Given the description of an element on the screen output the (x, y) to click on. 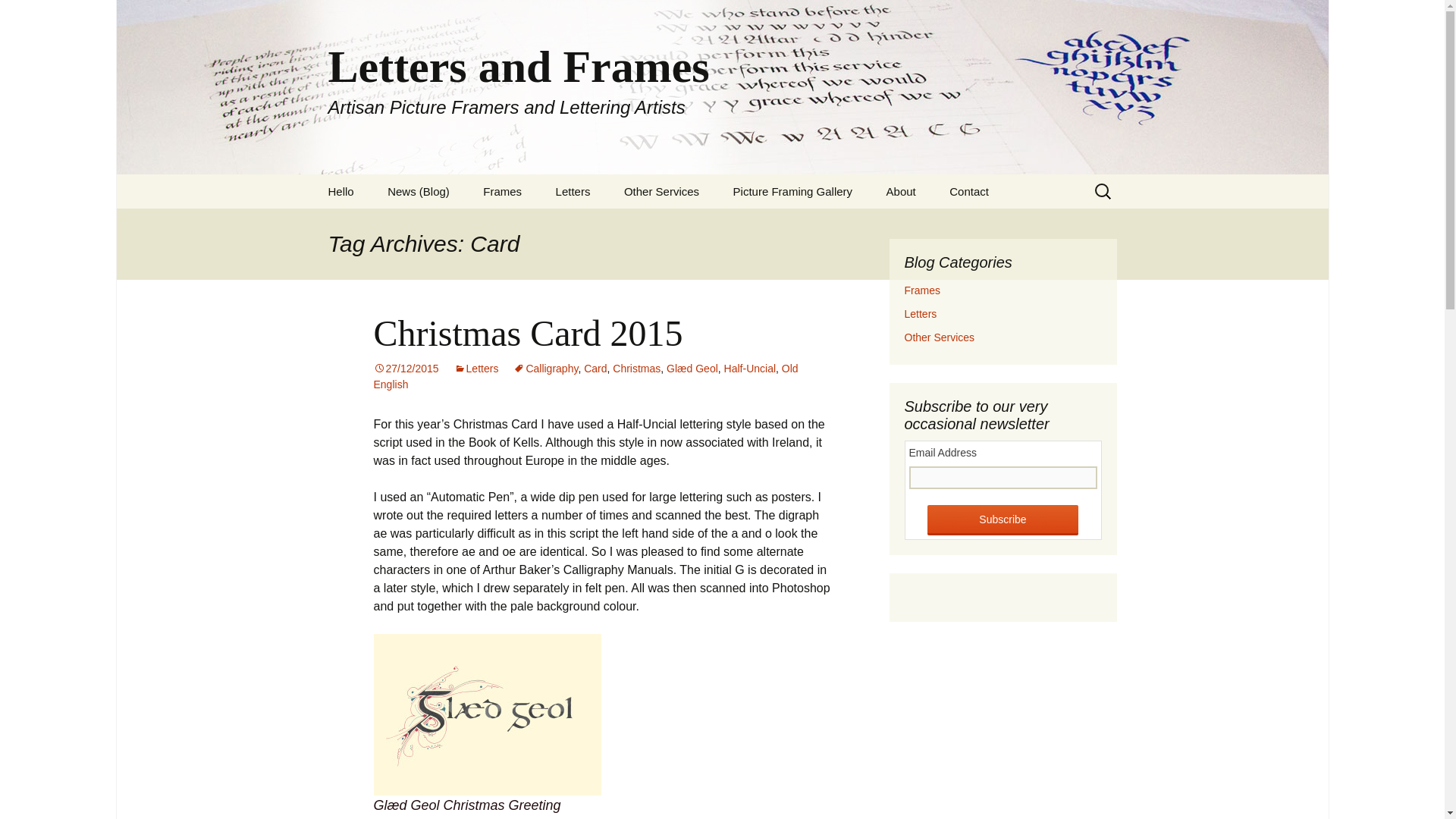
Subscribe (1002, 520)
Christmas (636, 368)
Other Services (661, 191)
Half-Uncial (749, 368)
Hello (340, 191)
About (900, 191)
Frames (502, 191)
Old English (584, 376)
Card (595, 368)
